Given the description of an element on the screen output the (x, y) to click on. 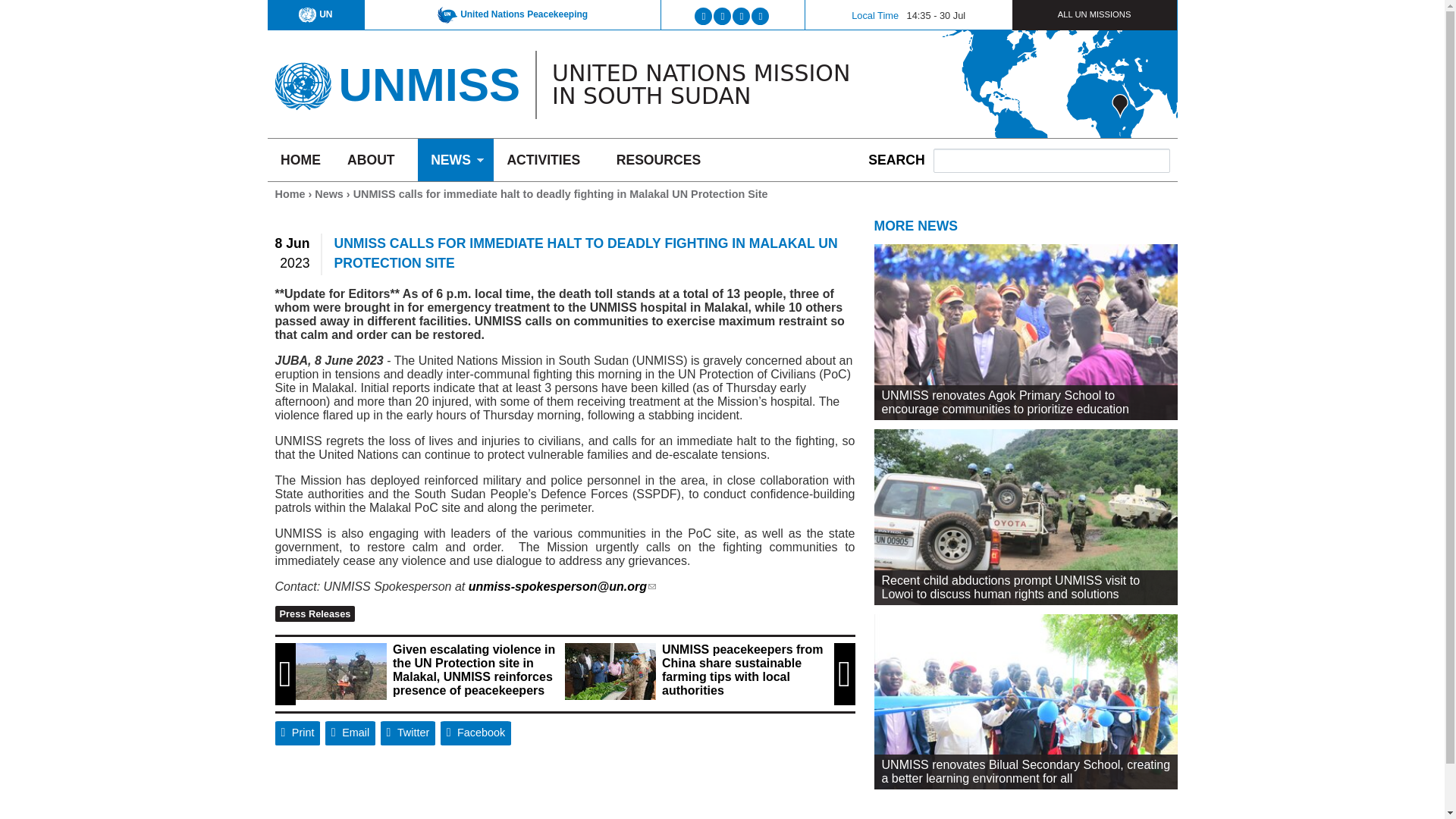
Home (301, 80)
Twitter (407, 733)
Enter the terms you wish to search for. (1051, 160)
UNMISS (428, 84)
Print (297, 733)
HOME (299, 159)
ALL UN MISSIONS (1094, 13)
Facebook (476, 733)
Home (428, 84)
UN (314, 14)
Email (349, 733)
United Nations Peacekeeping (513, 14)
